Given the description of an element on the screen output the (x, y) to click on. 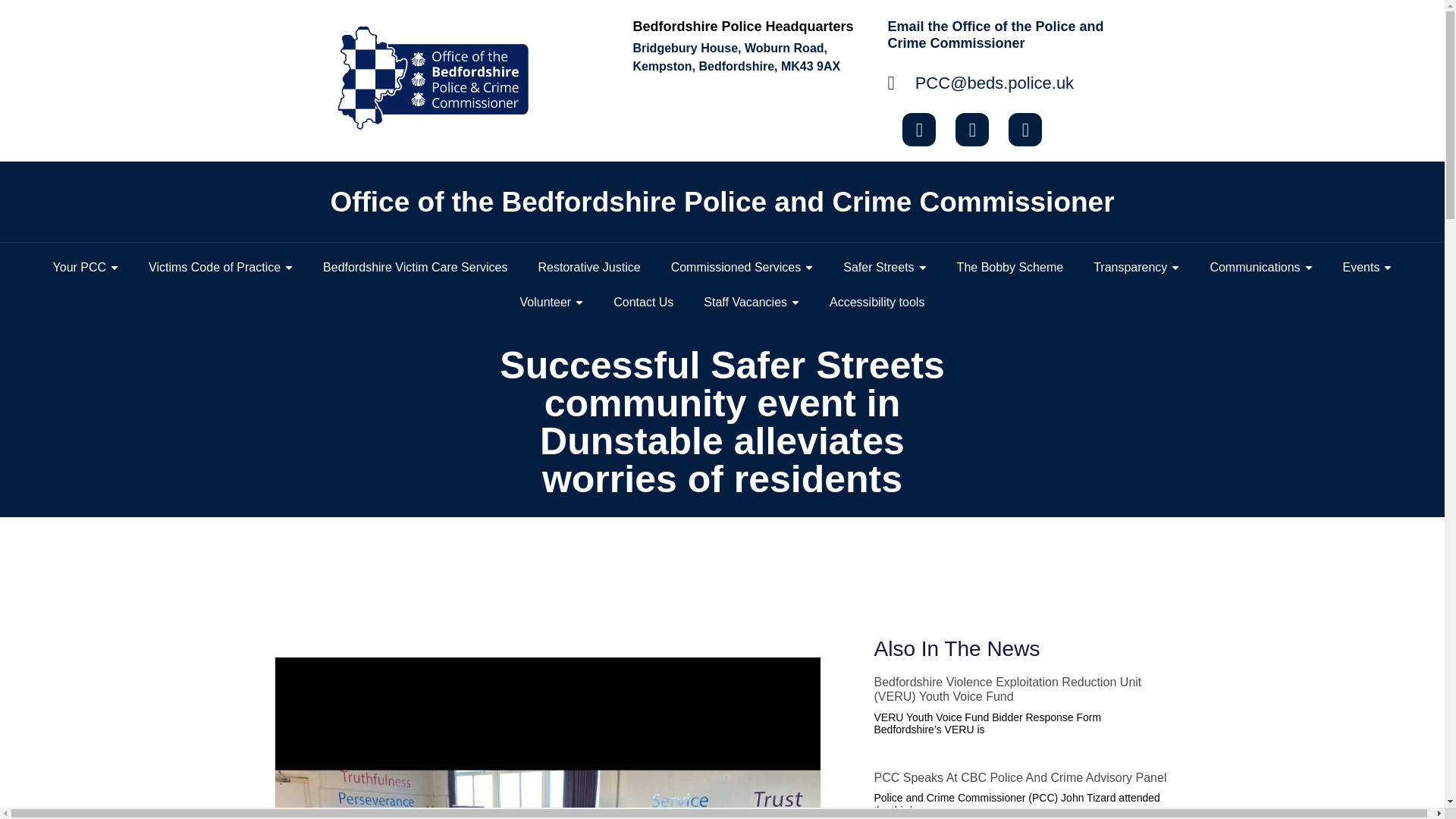
Bedfordshire Victim Care Services (414, 267)
Restorative Justice (588, 267)
Commissioned Services (742, 267)
Victims Code of Practice (220, 267)
Transparency (1135, 267)
Safer Streets (884, 267)
Your PCC (85, 267)
The Bobby Scheme (1010, 267)
